Given the description of an element on the screen output the (x, y) to click on. 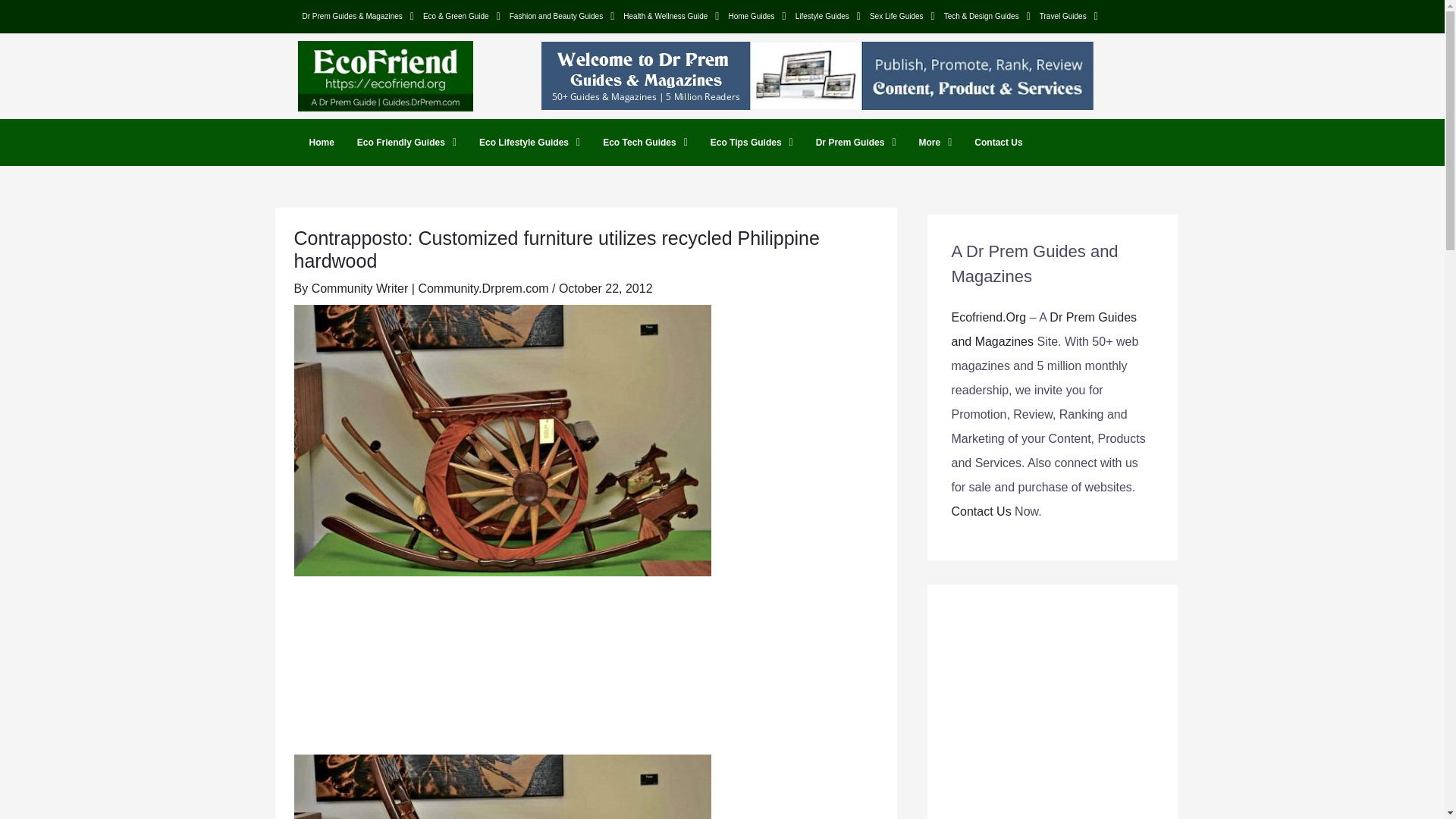
Lifestyle Guides (827, 16)
Contrapossto reclaimed wood furniture (502, 786)
Fashion and Beauty Guides (562, 16)
Home Guides (756, 16)
